Given the description of an element on the screen output the (x, y) to click on. 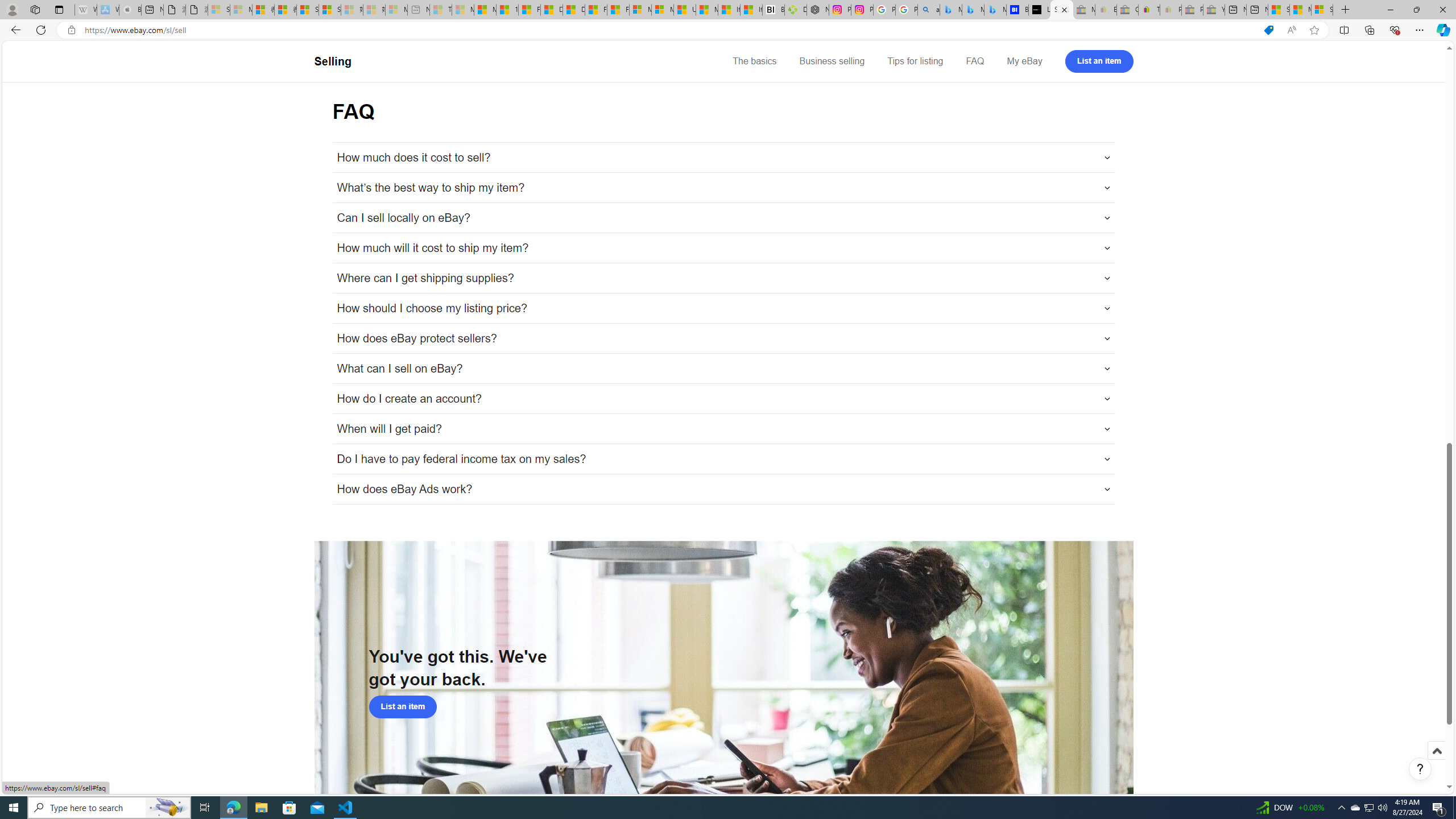
How does eBay protect sellers? (723, 338)
The basics (754, 60)
FAQ (974, 60)
Where can I get shipping supplies? (723, 278)
Microsoft Bing Travel - Flights from Hong Kong to Bangkok (950, 9)
Buy iPad - Apple - Sleeping (130, 9)
Press Room - eBay Inc. - Sleeping (1192, 9)
